Given the description of an element on the screen output the (x, y) to click on. 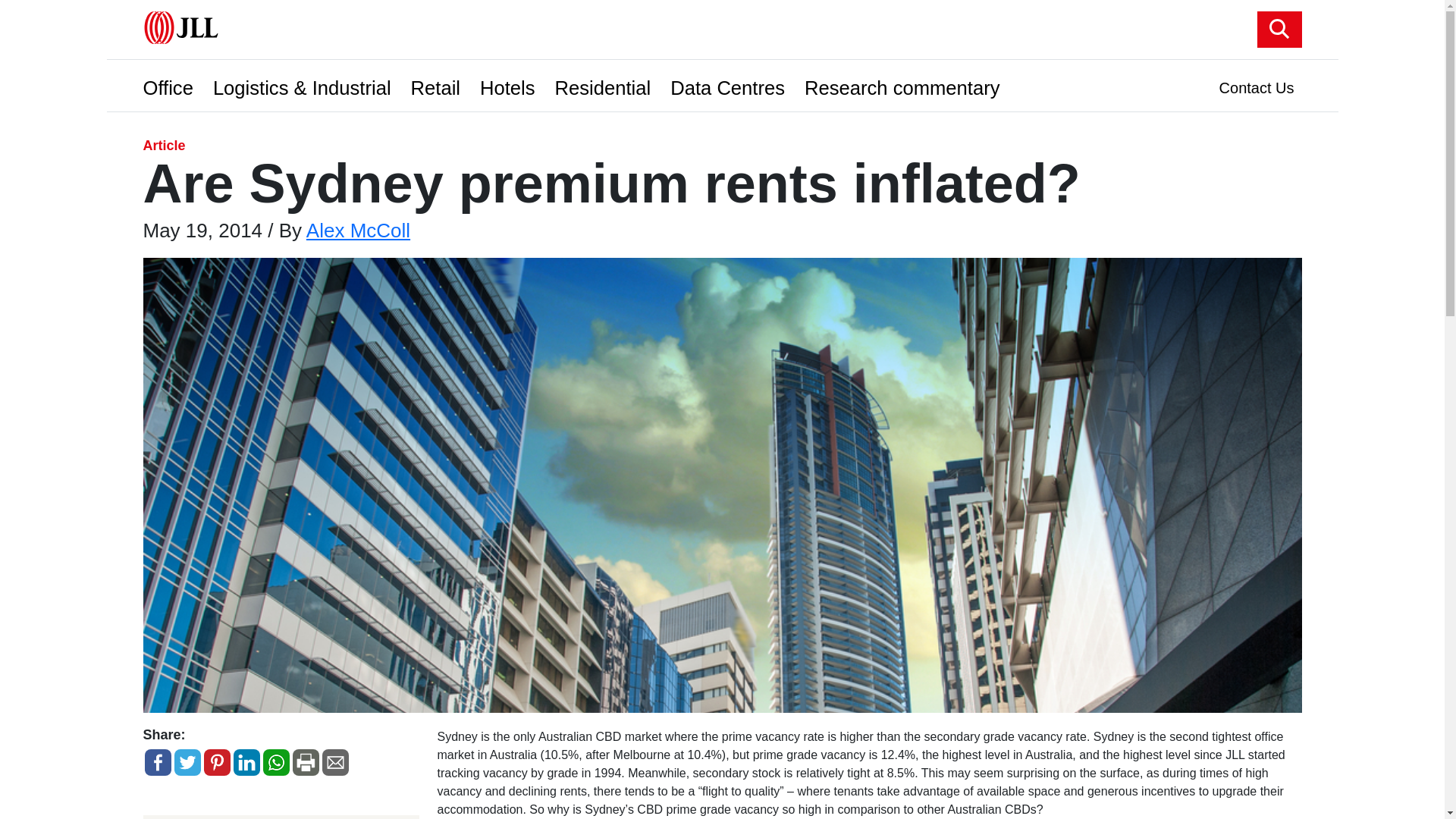
linkedin (246, 762)
pinterest (216, 762)
Office (171, 83)
email (334, 762)
whatsapp (274, 762)
Contact Us (1256, 84)
twitter (187, 762)
Research commentary (906, 83)
Residential (606, 83)
facebook (156, 762)
print (305, 762)
Hotels (511, 83)
Alex McColl (357, 230)
Retail (438, 83)
Data Centres (730, 83)
